Given the description of an element on the screen output the (x, y) to click on. 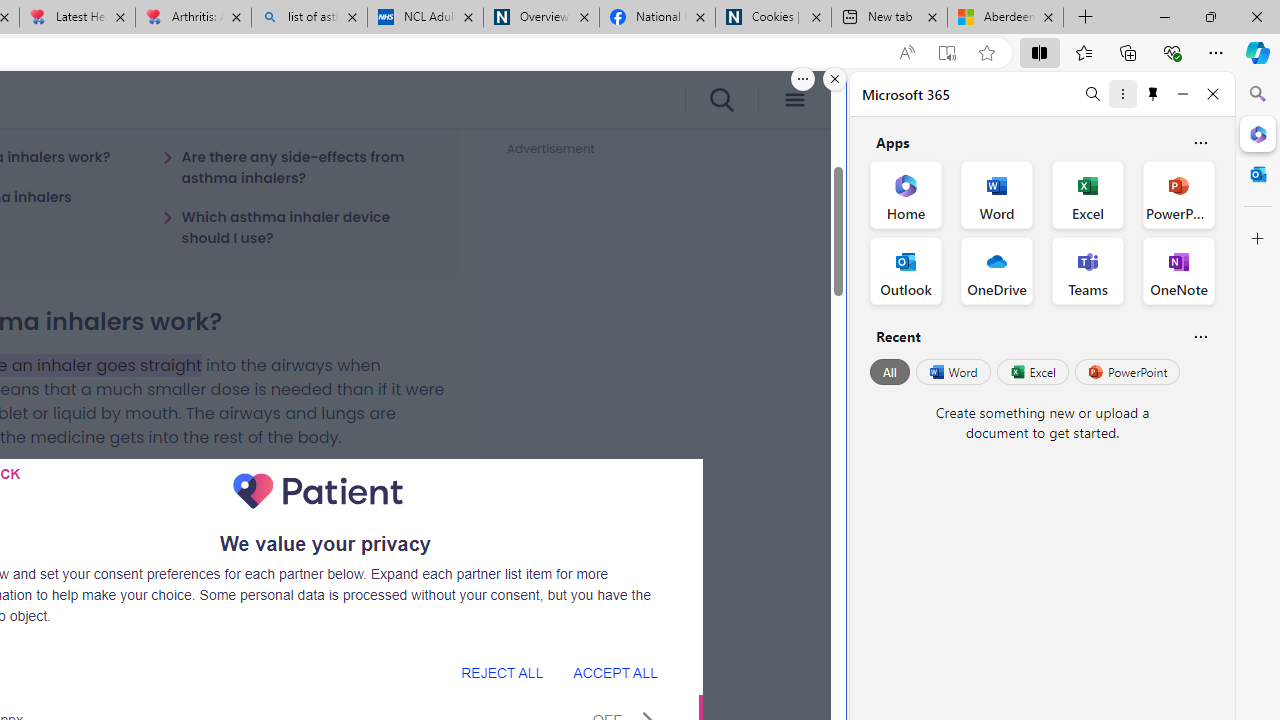
NCL Adult Asthma Inhaler Choice Guideline (424, 17)
Aberdeen, Hong Kong SAR hourly forecast | Microsoft Weather (1005, 17)
Close Customize pane (1258, 239)
Enter Immersive Reader (F9) (946, 53)
Word (952, 372)
Are there any side-effects from asthma inhalers? (298, 167)
ACCEPT ALL (615, 672)
